Given the description of an element on the screen output the (x, y) to click on. 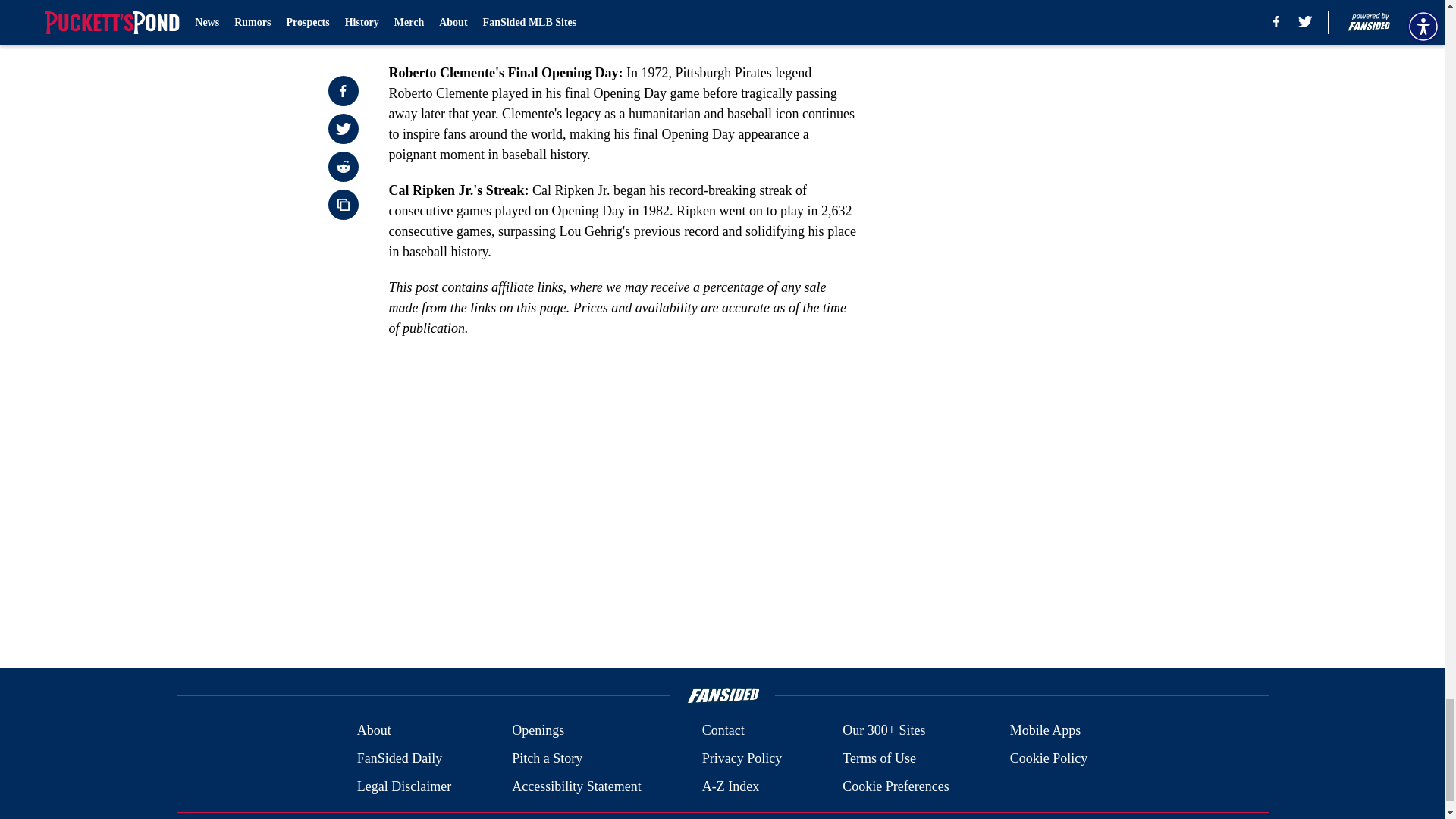
Mobile Apps (1045, 730)
Cookie Policy (1048, 758)
Openings (538, 730)
Terms of Use (879, 758)
Privacy Policy (742, 758)
About (373, 730)
Pitch a Story (547, 758)
Contact (722, 730)
FanSided Daily (399, 758)
